Given the description of an element on the screen output the (x, y) to click on. 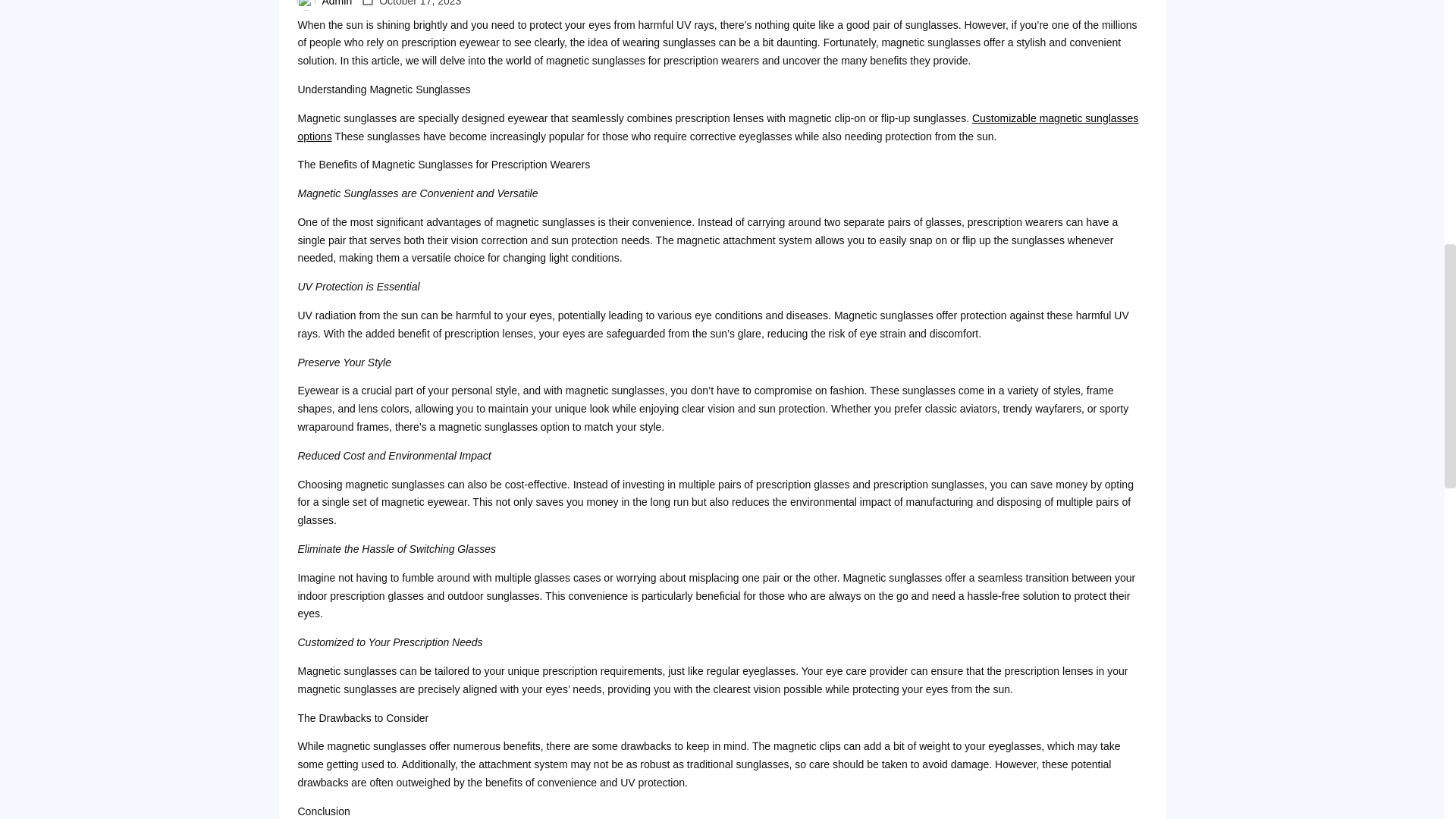
Customizable magnetic sunglasses options (717, 127)
Admin (336, 3)
October 17, 2023 (419, 4)
